Given the description of an element on the screen output the (x, y) to click on. 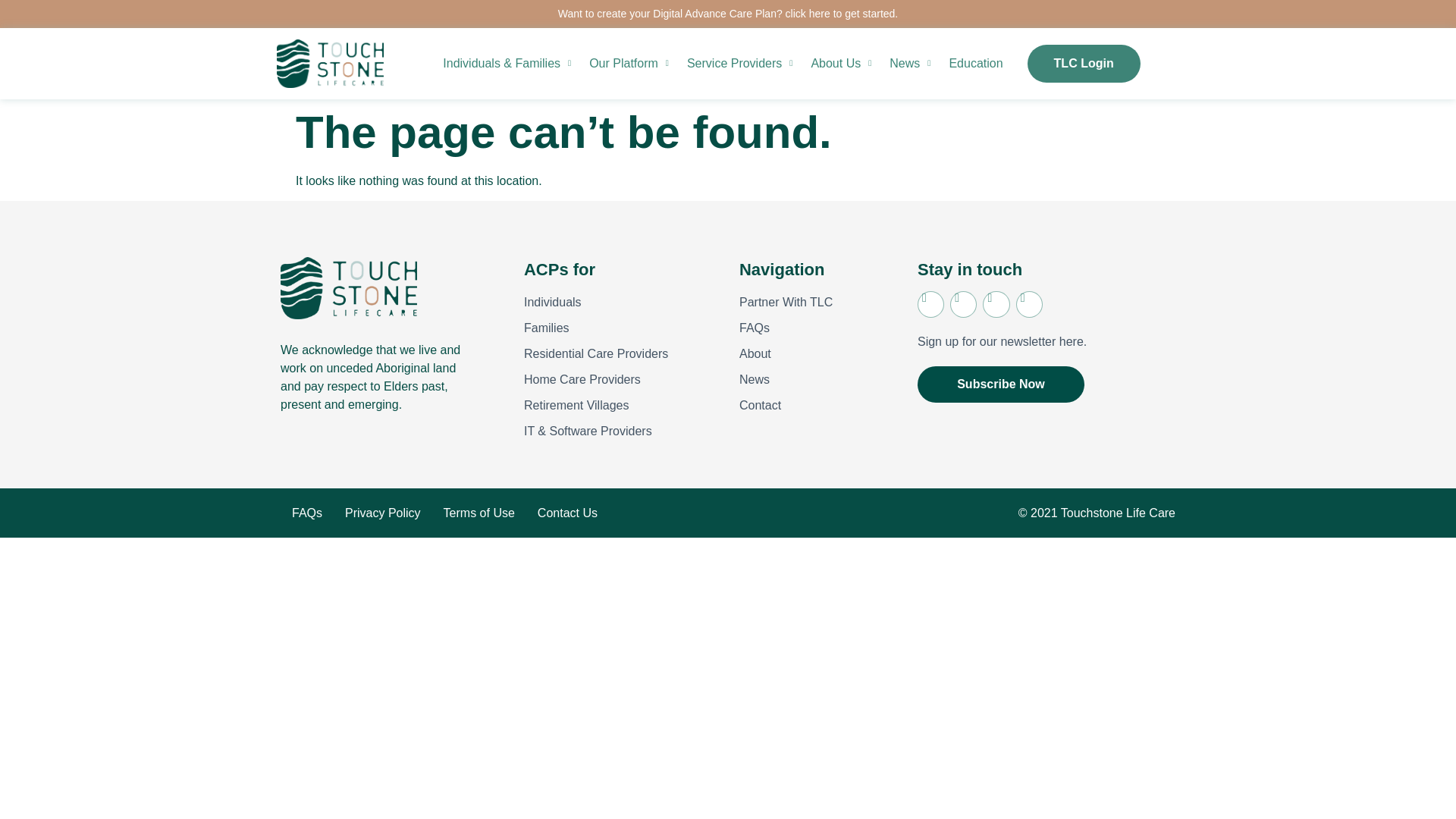
click here to get started. (842, 13)
Our Platform (628, 63)
About Us (841, 63)
TLC Login (1083, 63)
Education (975, 63)
News (909, 63)
Service Providers (740, 63)
